Given the description of an element on the screen output the (x, y) to click on. 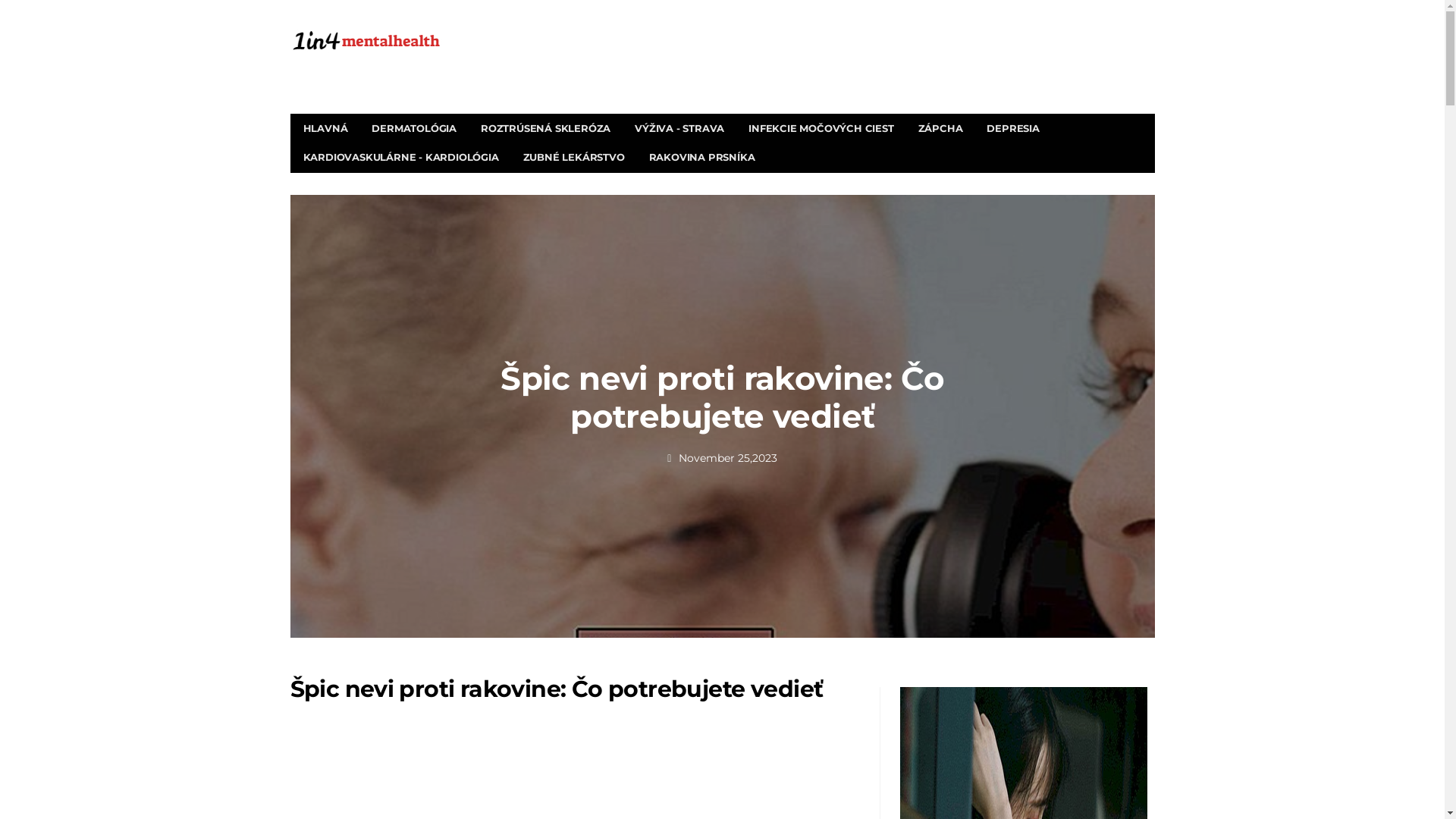
DEPRESIA Element type: text (1012, 128)
